Given the description of an element on the screen output the (x, y) to click on. 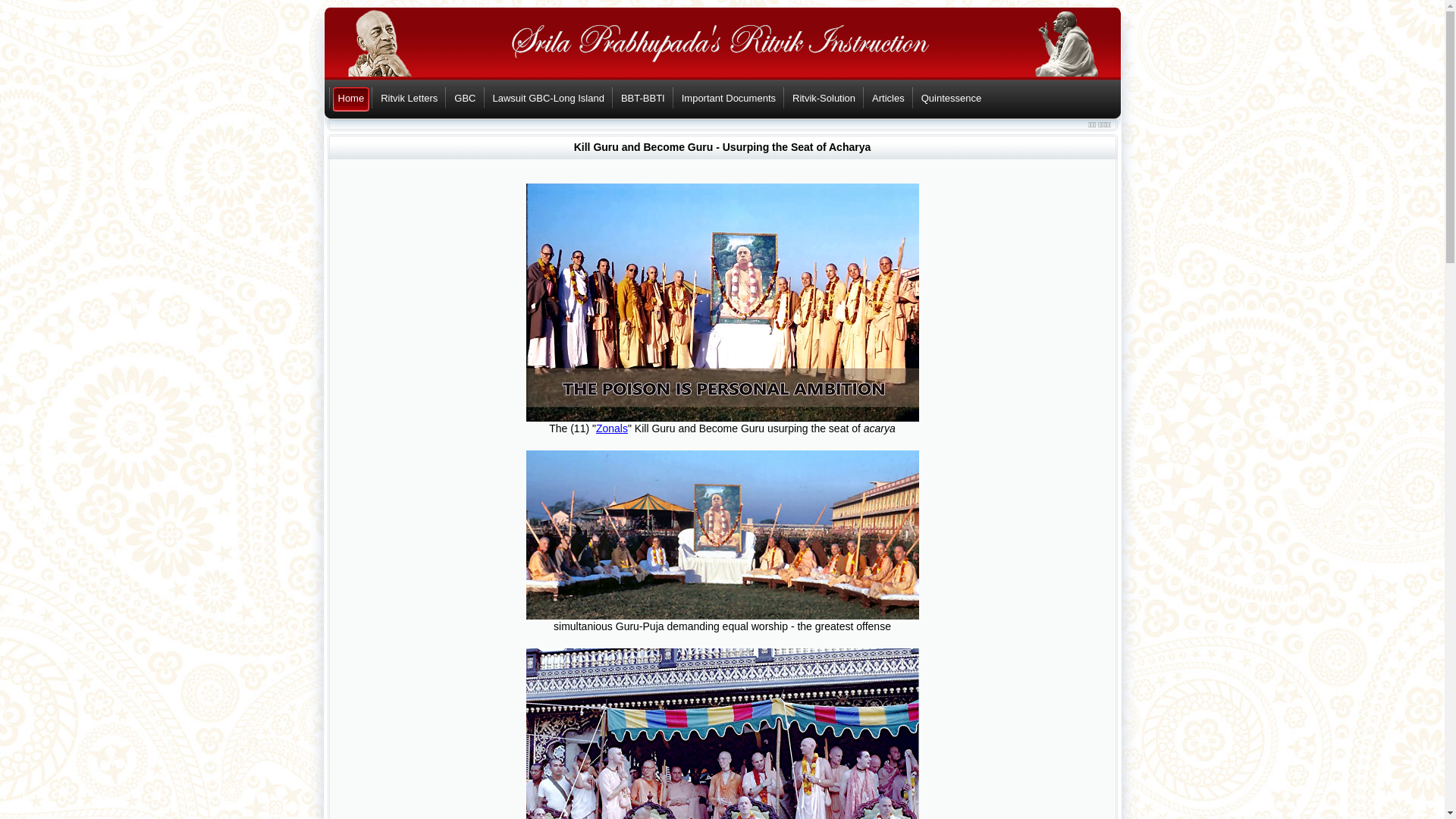
Ritvik-Solution (827, 99)
BBT-BBTI Book-changes (646, 99)
Ritvik Letters (412, 99)
Articles (892, 99)
GBC Instructions (468, 99)
Articles (892, 99)
Quintessence (955, 99)
Ritvik-Solution (827, 99)
Quintessence (955, 99)
Important Documents (732, 99)
Ritvik Letters (412, 99)
Lawsuit GBC-Long Island (551, 99)
Home (354, 99)
Home (354, 99)
Important Documents (732, 99)
